Given the description of an element on the screen output the (x, y) to click on. 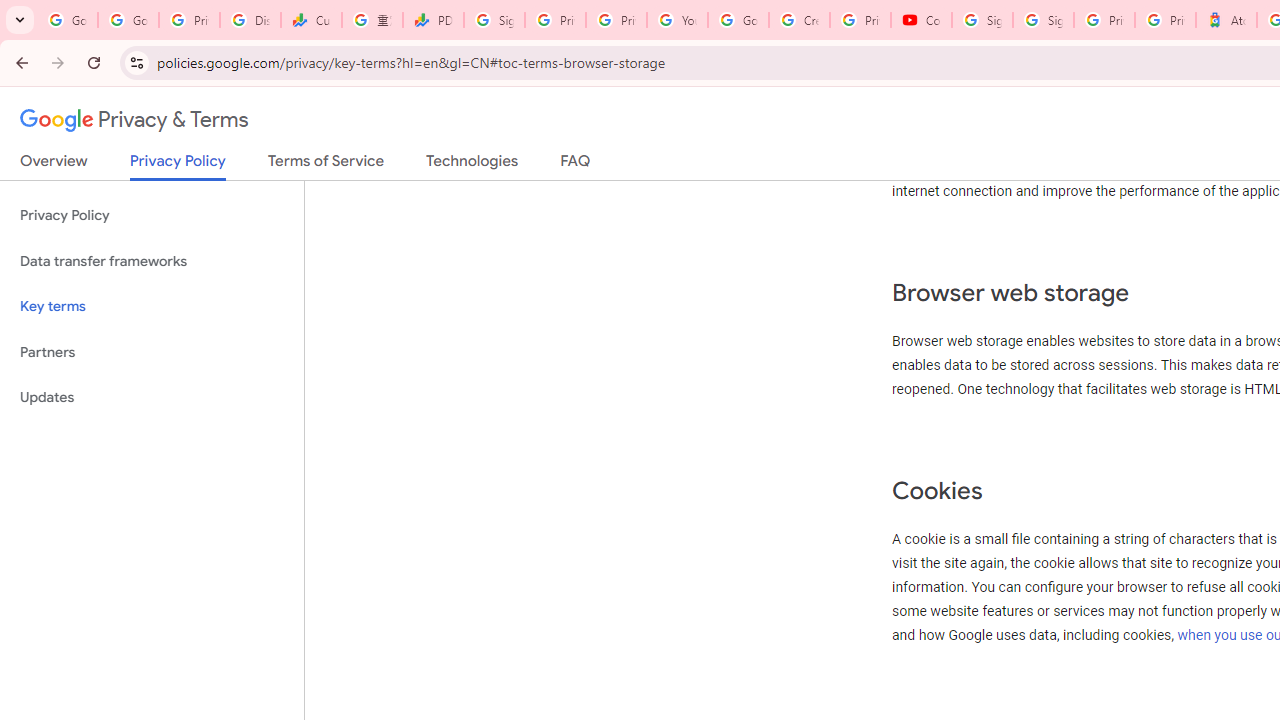
Google Workspace Admin Community (67, 20)
Currencies - Google Finance (310, 20)
PDD Holdings Inc - ADR (PDD) Price & News - Google Finance (433, 20)
Create your Google Account (799, 20)
